Given the description of an element on the screen output the (x, y) to click on. 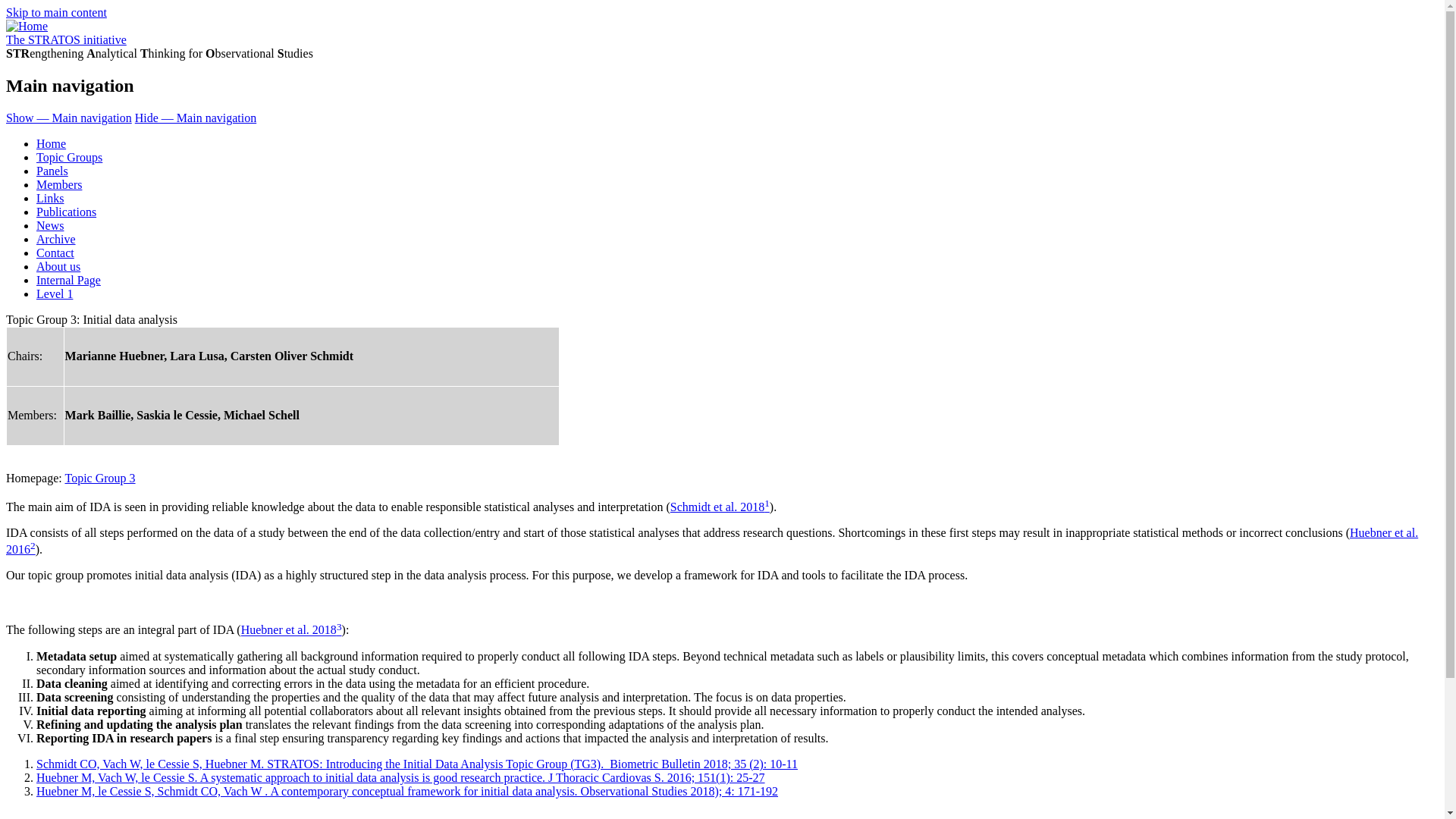
Topic Groups (68, 156)
Huebner et al. 2016 (711, 541)
Huebner et al. 2018 (288, 630)
Links (50, 197)
Internal Page (68, 279)
Skip to main content (55, 11)
About us (58, 266)
News (50, 225)
Home (50, 143)
Panels (52, 170)
Members (58, 184)
The STRATOS initiative (65, 39)
Schmidt et al. 2018 (716, 506)
List of current STRATOS members (58, 184)
Topic Group 3 (99, 477)
